Given the description of an element on the screen output the (x, y) to click on. 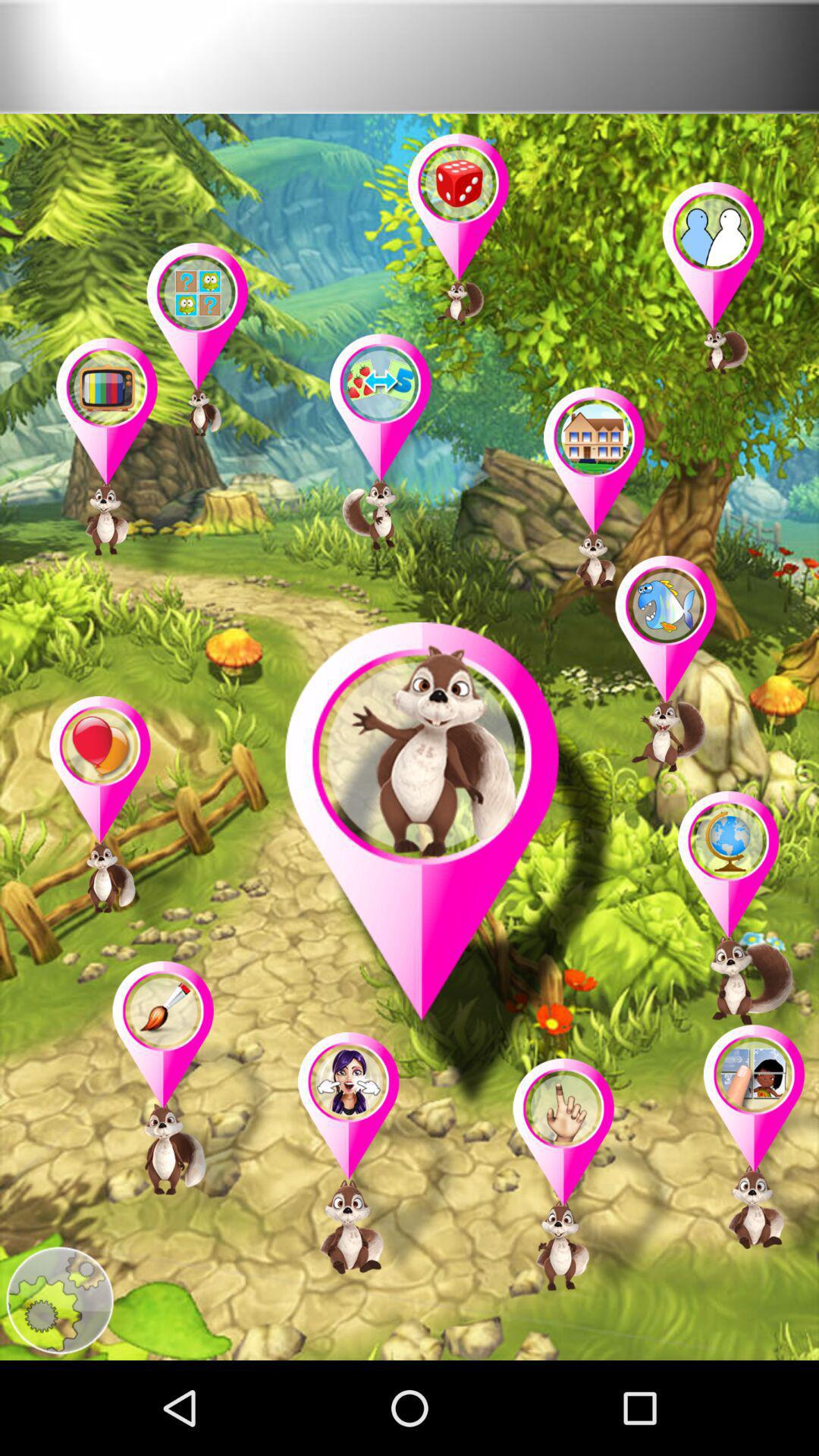
click to search (59, 1300)
